Given the description of an element on the screen output the (x, y) to click on. 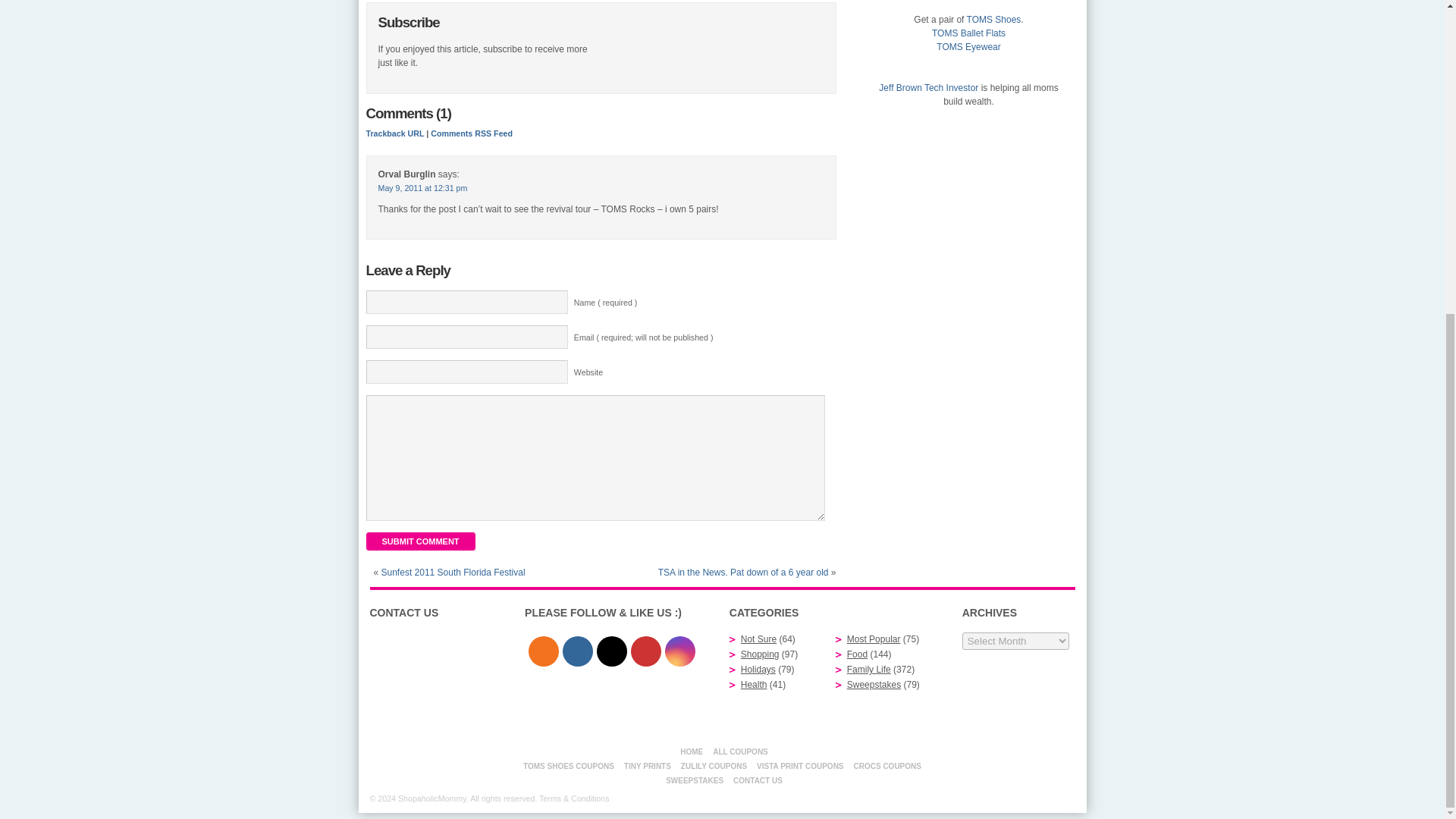
Trackback URL (394, 133)
Trackback URL (394, 133)
Comments RSS Feed for This Entry (471, 133)
TSA in the News. Pat down of a 6 year old (743, 572)
Sunfest 2011 South Florida Festival (453, 572)
